Given the description of an element on the screen output the (x, y) to click on. 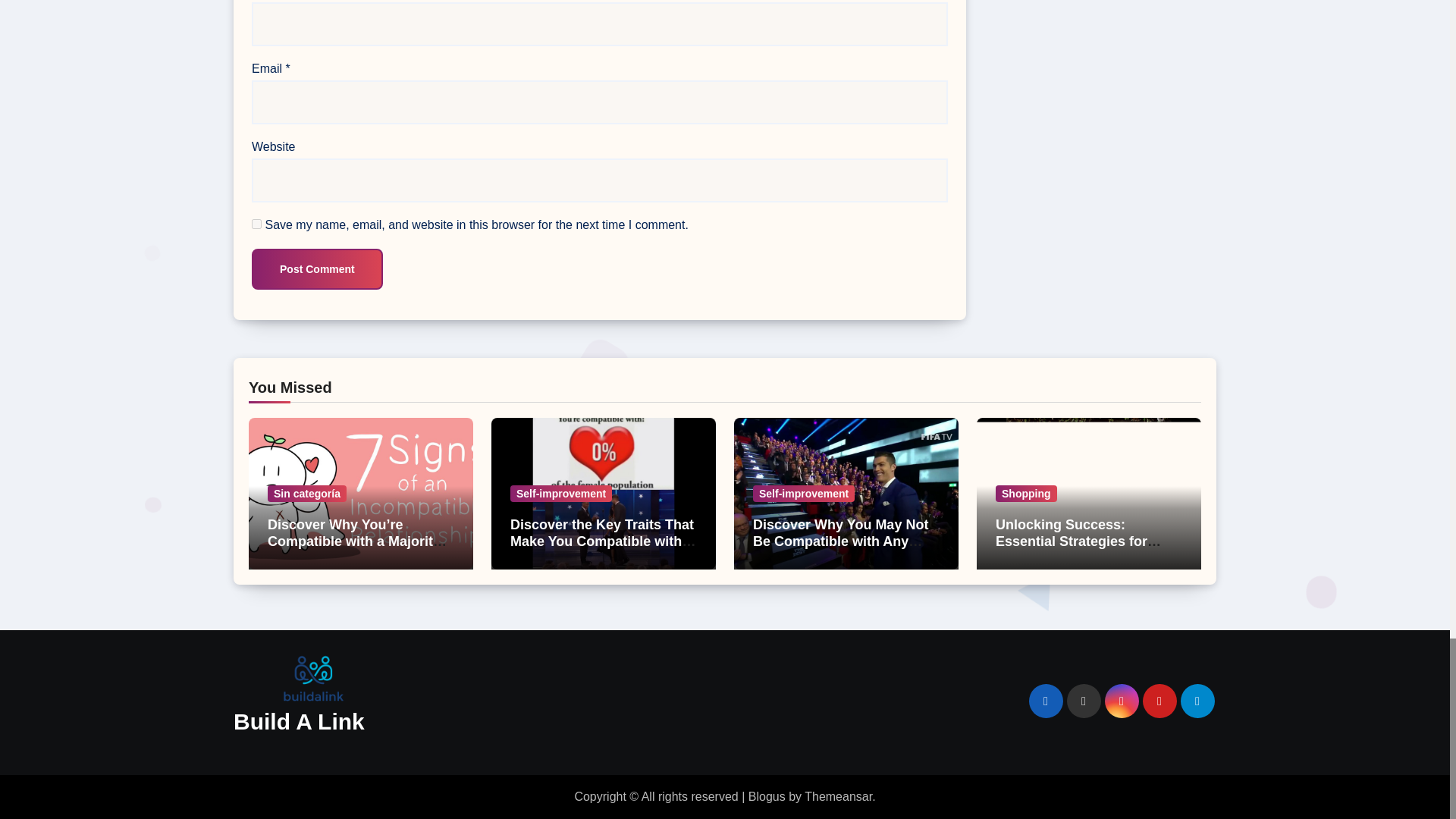
yes (256, 224)
Post Comment (316, 268)
